Given the description of an element on the screen output the (x, y) to click on. 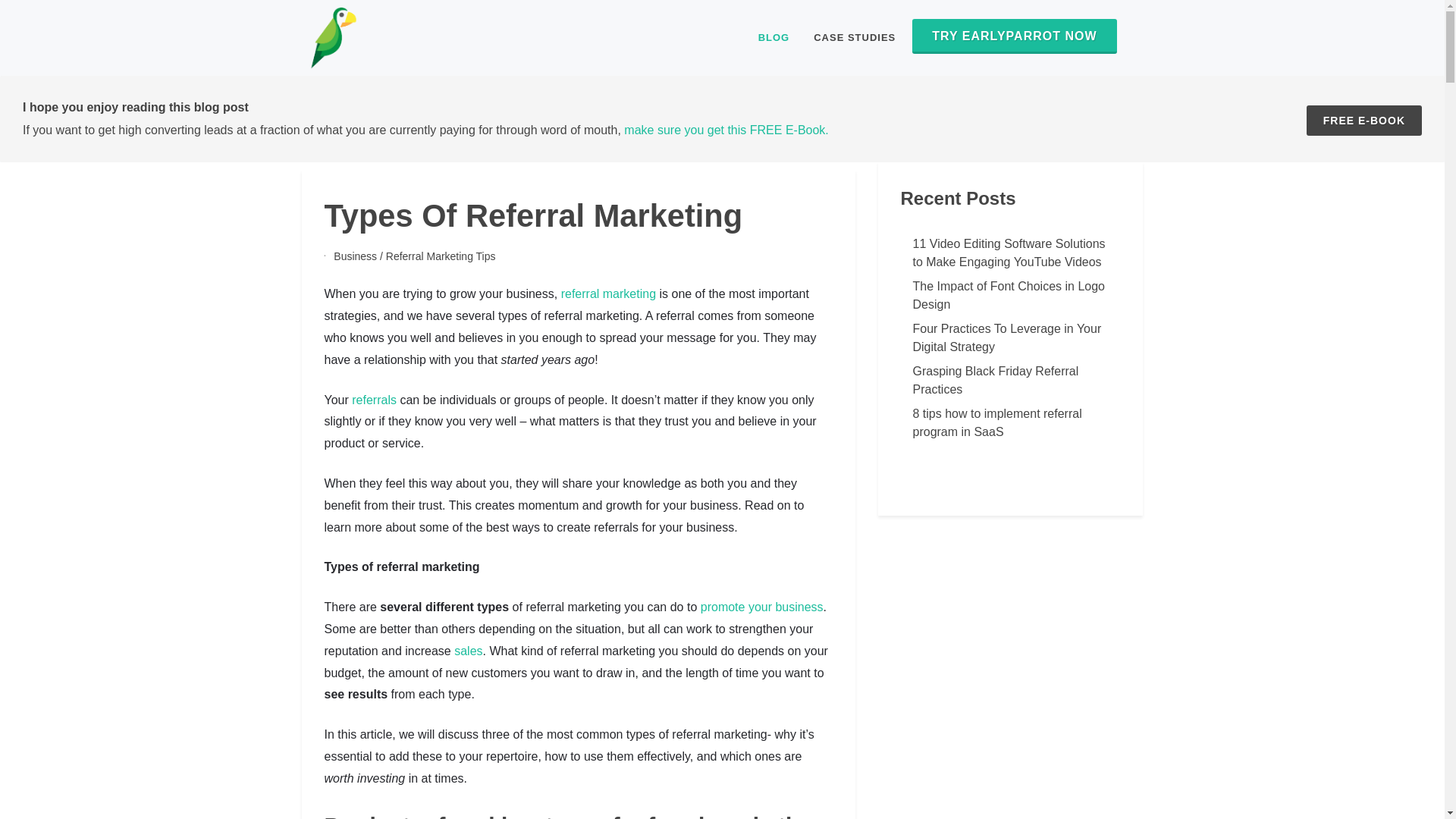
promote your business (762, 606)
make sure you get this FREE E-Book. (726, 129)
Four Practices To Leverage in Your Digital Strategy (1011, 338)
Referral Marketing Tips (440, 256)
CASE STUDIES (854, 38)
referrals (374, 399)
referral marketing (608, 293)
sales (467, 650)
Business (355, 256)
Grasping Black Friday Referral Practices (1011, 380)
The Impact of Font Choices in Logo Design (1011, 295)
TRY EARLYPARROT NOW (1014, 36)
8 tips how to implement referral program in SaaS (1011, 422)
FREE E-BOOK (1364, 120)
